Given the description of an element on the screen output the (x, y) to click on. 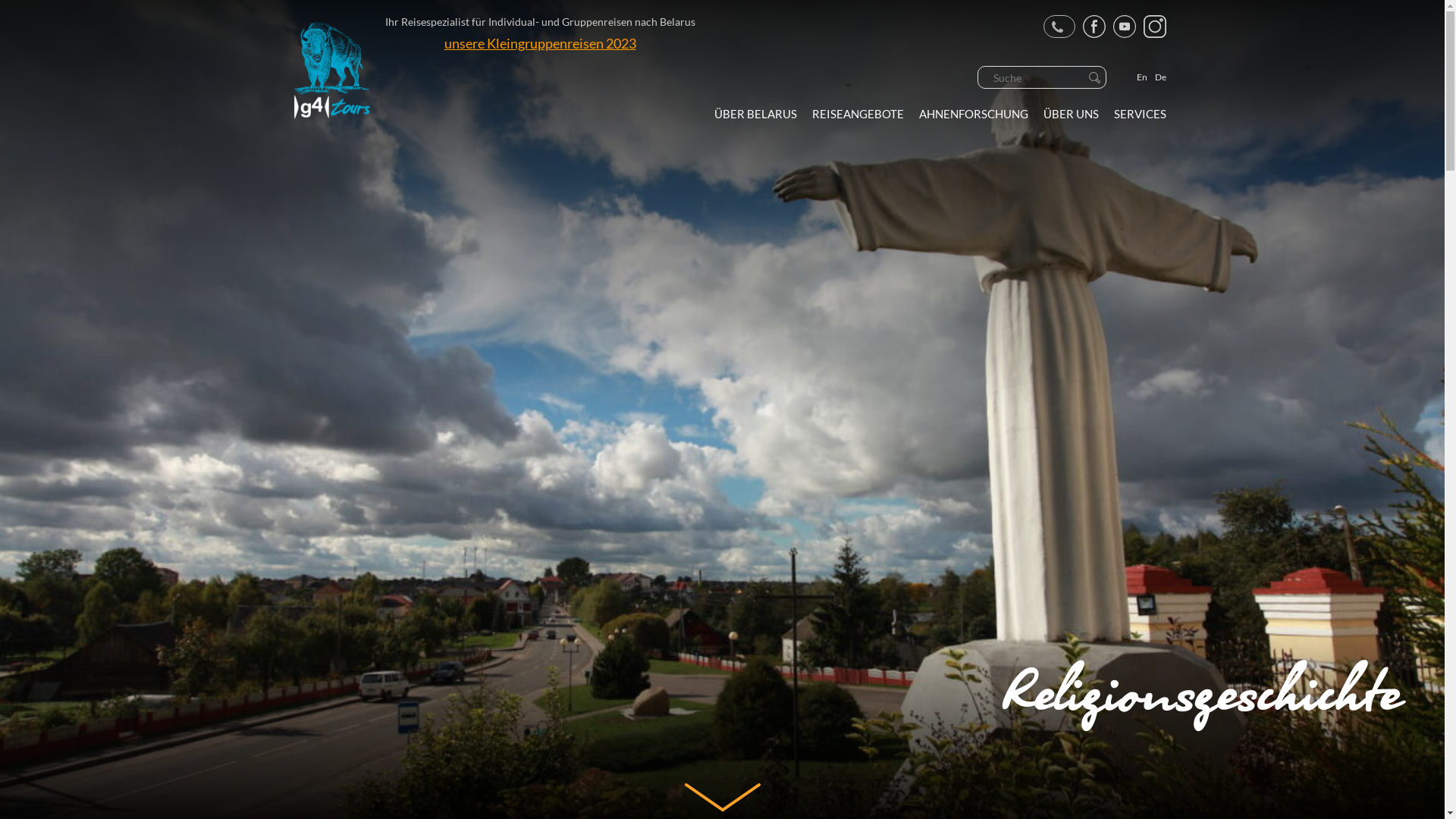
En Element type: text (1140, 76)
AHNENFORSCHUNG Element type: text (973, 113)
Belarus Reisen auf Instagram Element type: hover (1154, 26)
REISEANGEBOTE Element type: text (857, 113)
SERVICES Element type: text (1139, 113)
Belarus Reisen auf Facebook Element type: hover (1093, 26)
Belarus Reisen auf Youtube Element type: hover (1124, 26)
De Element type: text (1159, 76)
unsere Kleingruppenreisen 2023 Element type: text (540, 42)
